Given the description of an element on the screen output the (x, y) to click on. 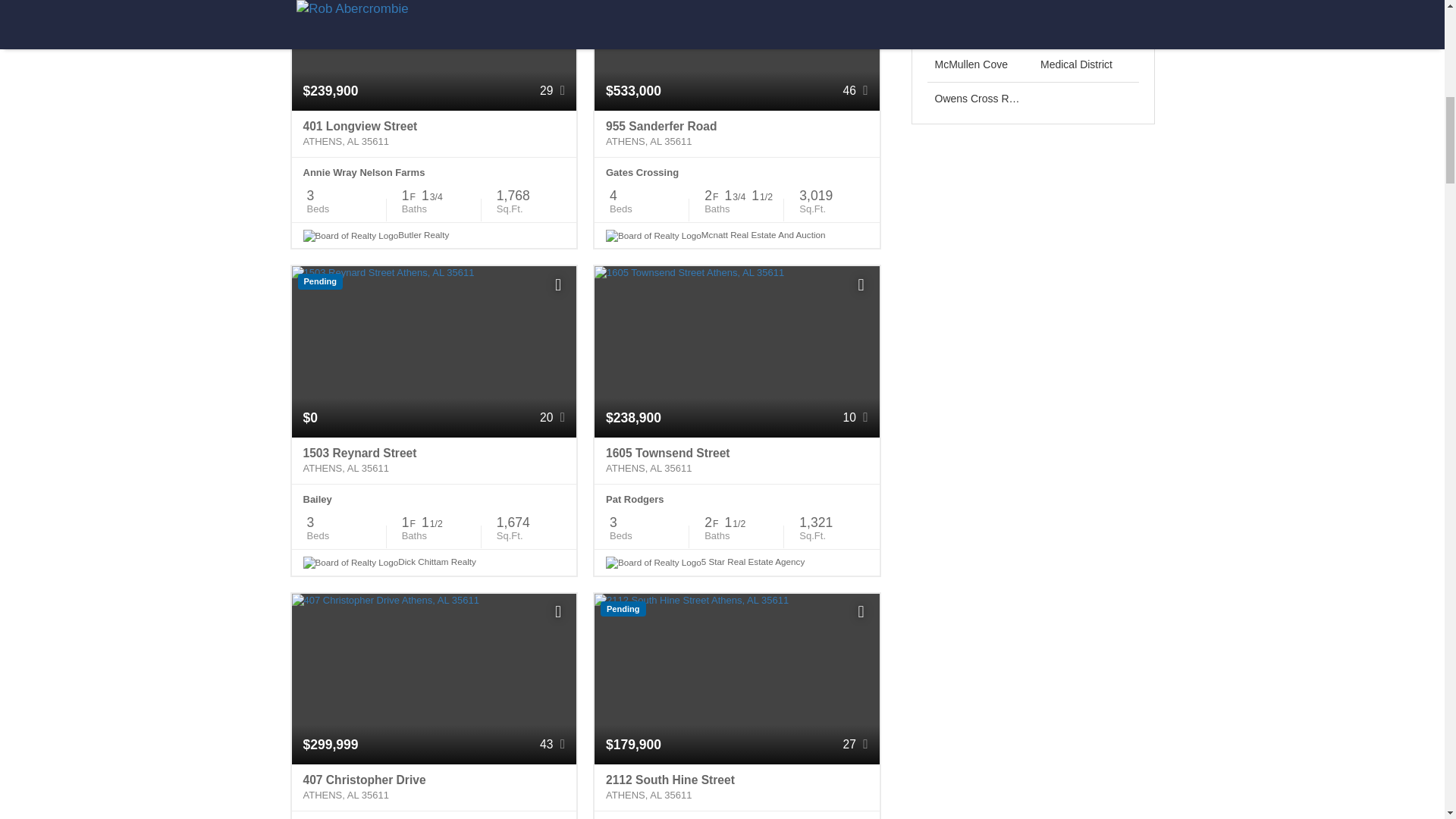
401 Longview Street Athens,  AL 35611 (433, 134)
1605 Townsend Street Athens,  AL 35611 (736, 460)
2112 South Hine Street Athens,  AL 35611 (736, 787)
1503 Reynard Street Athens,  AL 35611 (433, 460)
407 Christopher Drive Athens,  AL 35611 (433, 787)
955 Sanderfer Road Athens,  AL 35611 (736, 134)
